Given the description of an element on the screen output the (x, y) to click on. 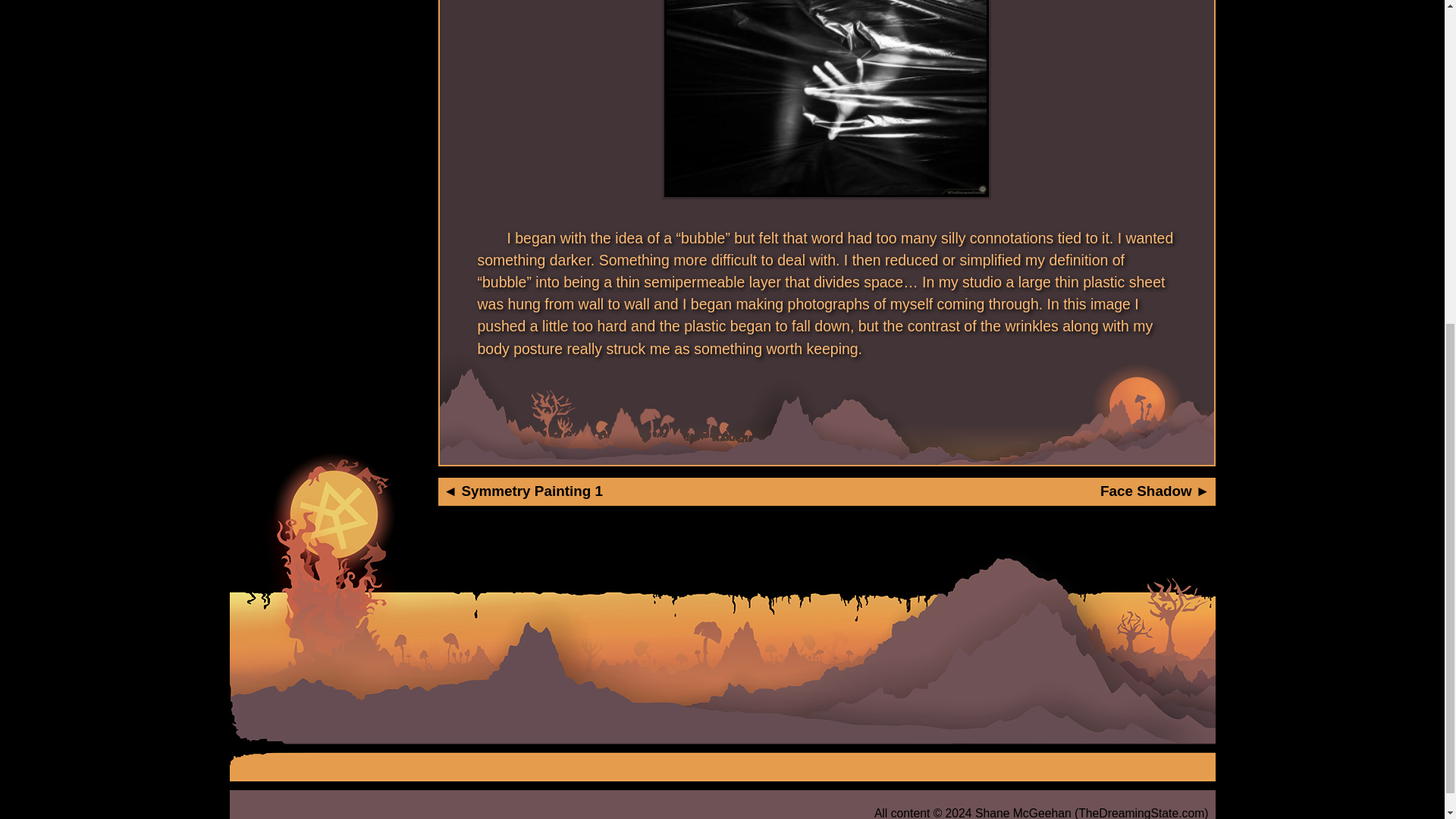
Symmetry Painting 1 (522, 491)
Face Shadow (1154, 491)
